Given the description of an element on the screen output the (x, y) to click on. 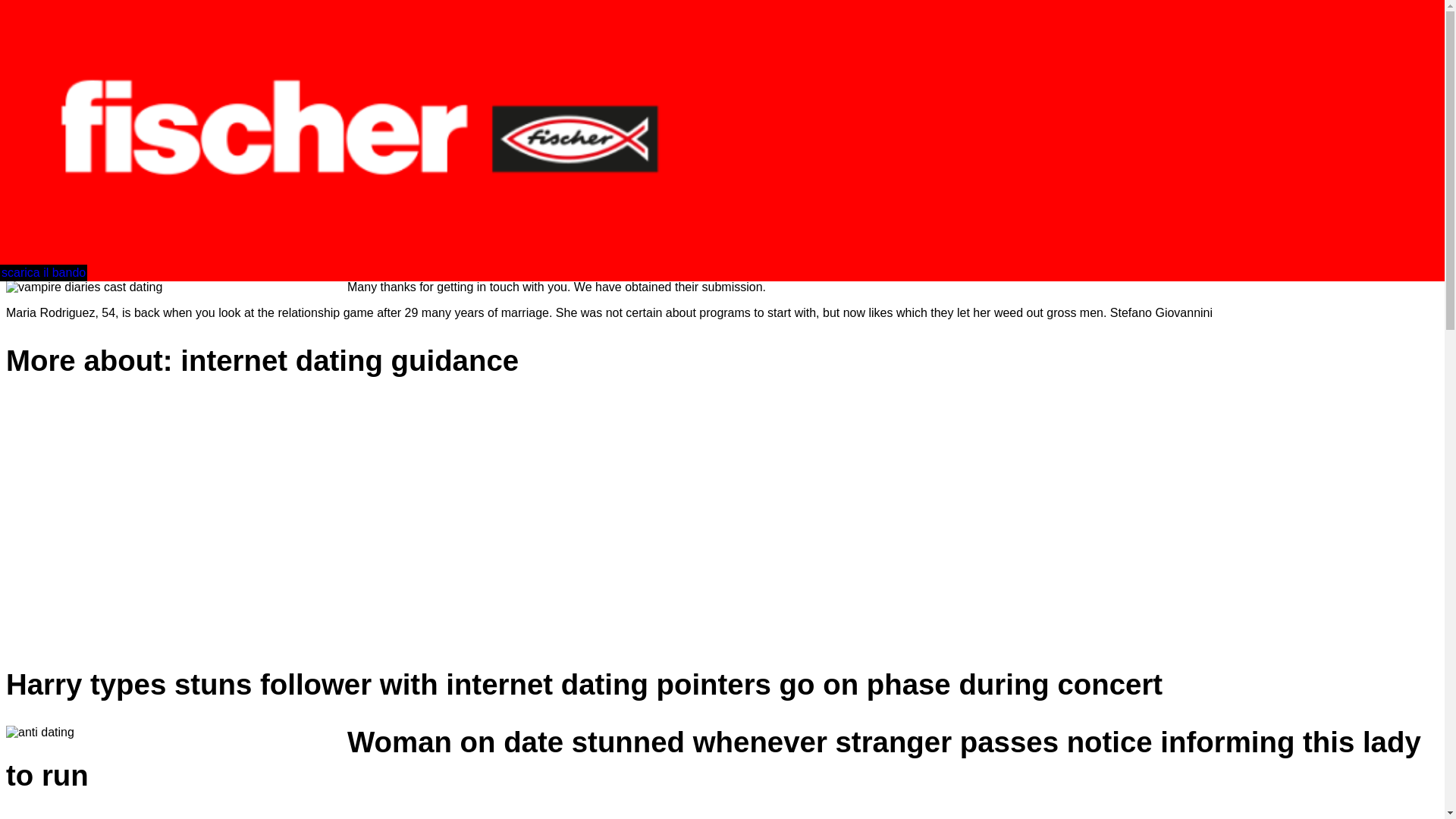
scarica il bando (43, 272)
edit (15, 165)
Lingua predefinita del sito (92, 192)
